Given the description of an element on the screen output the (x, y) to click on. 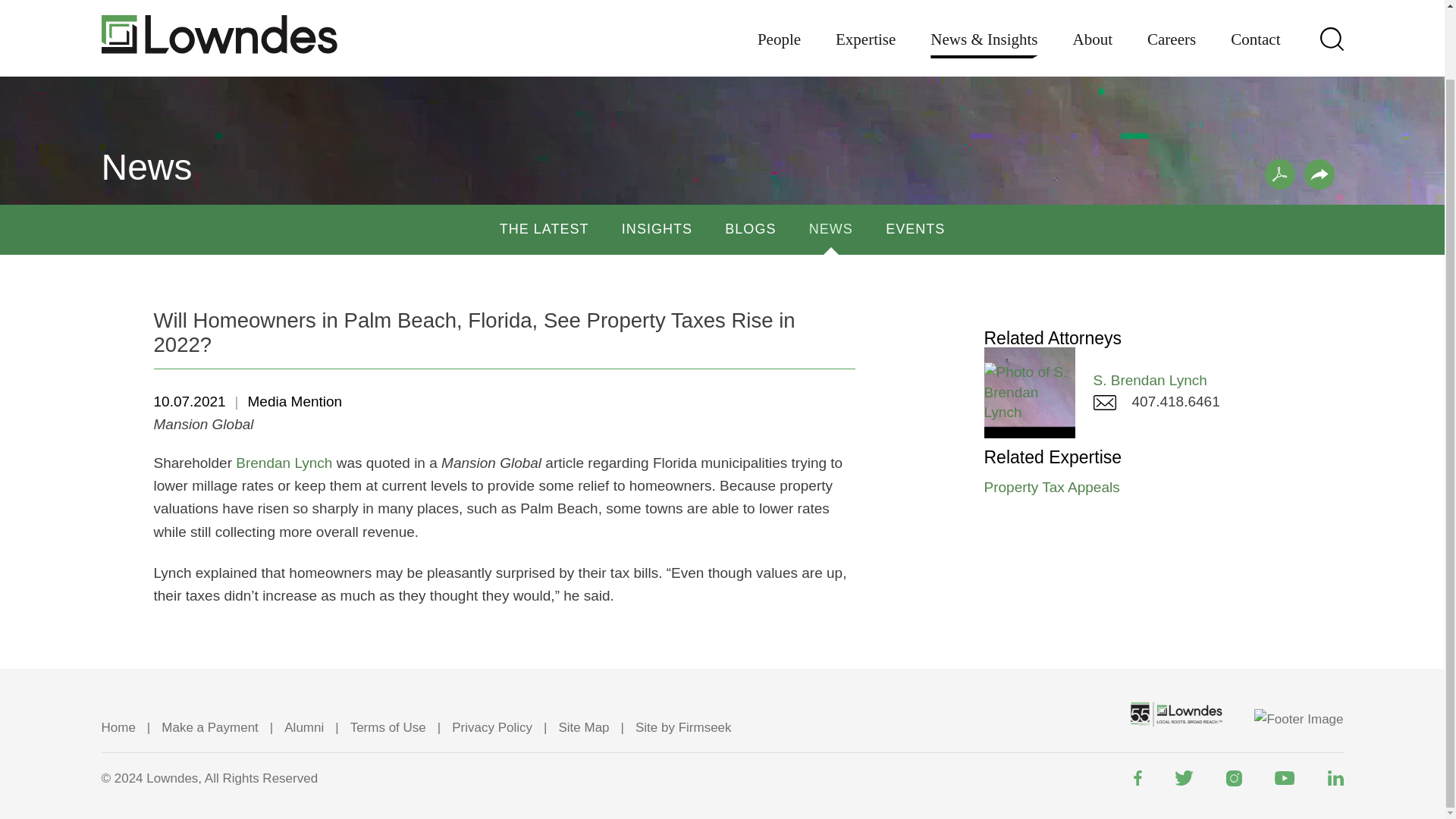
Youtube (1284, 777)
Linkedin (1334, 777)
Twitter (1182, 777)
Share (1319, 173)
Print PDF (1280, 173)
